Given the description of an element on the screen output the (x, y) to click on. 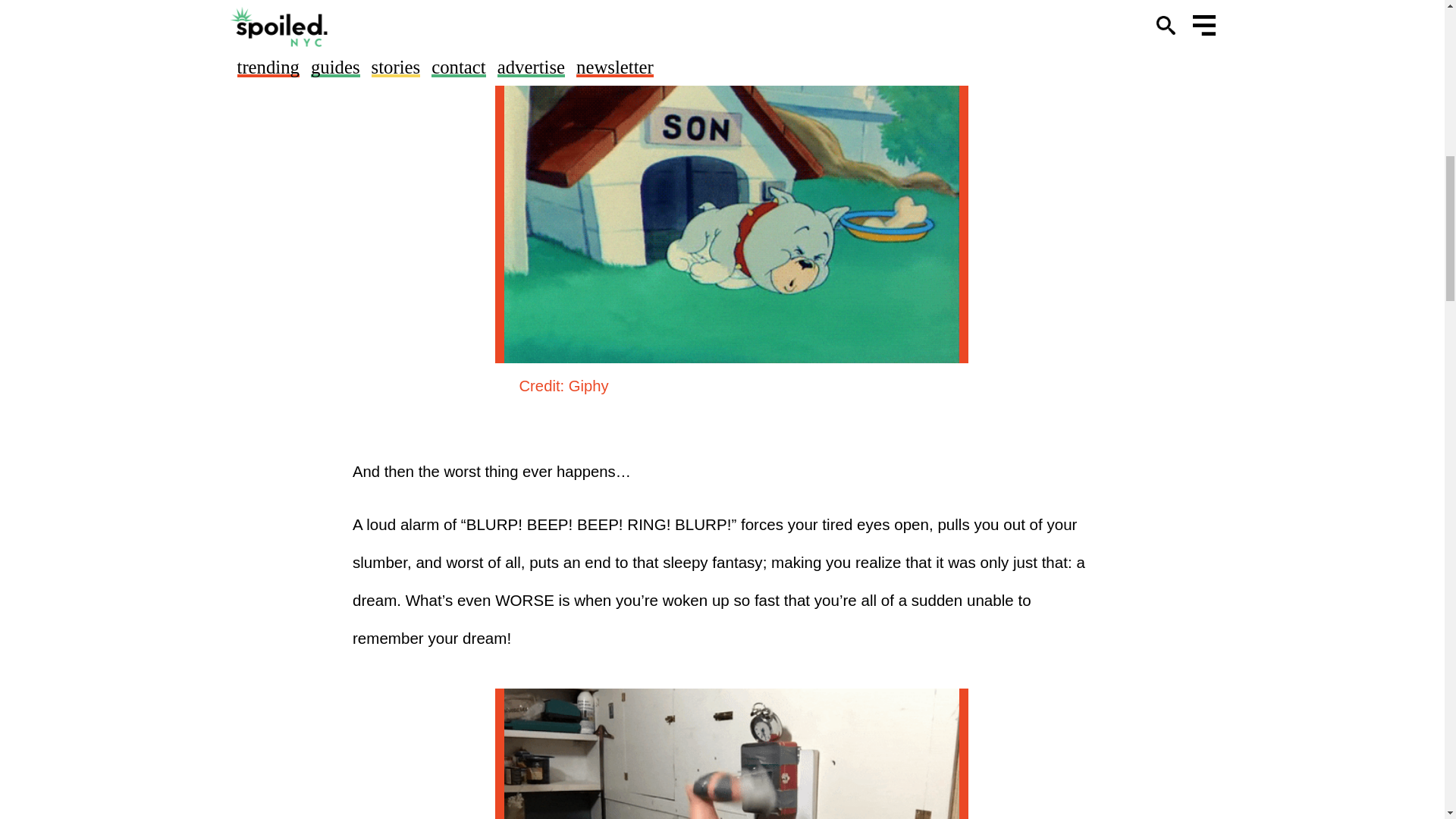
Credit: Giphy (563, 385)
